Given the description of an element on the screen output the (x, y) to click on. 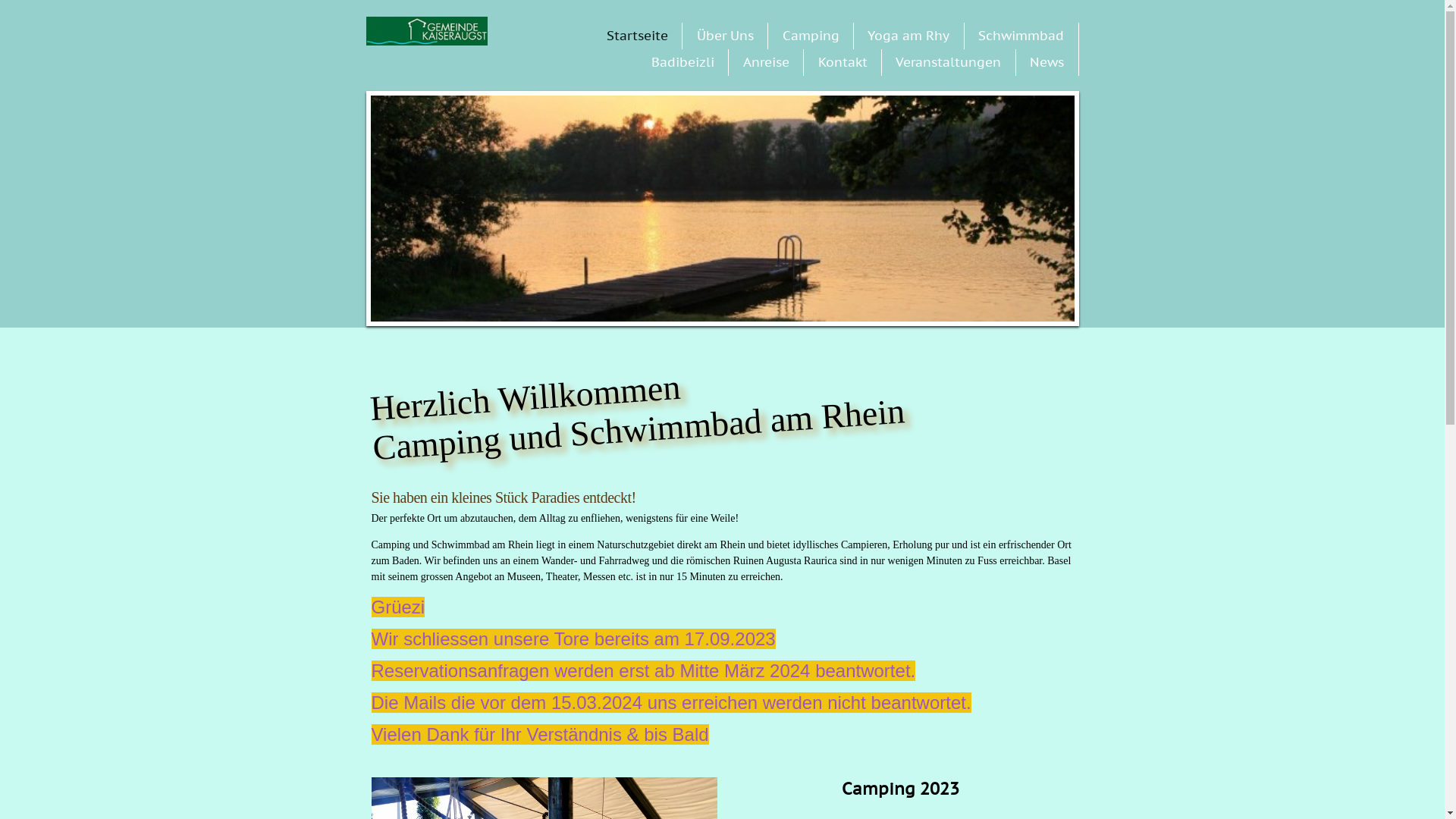
News Element type: text (1046, 62)
Startseite Element type: text (637, 35)
Camping Element type: text (811, 35)
Veranstaltungen Element type: text (948, 62)
Schwimmbad Element type: text (1020, 35)
Kontakt Element type: text (842, 62)
Anreise Element type: text (766, 62)
Badibeizli Element type: text (682, 62)
Yoga am Rhy Element type: text (908, 35)
